Given the description of an element on the screen output the (x, y) to click on. 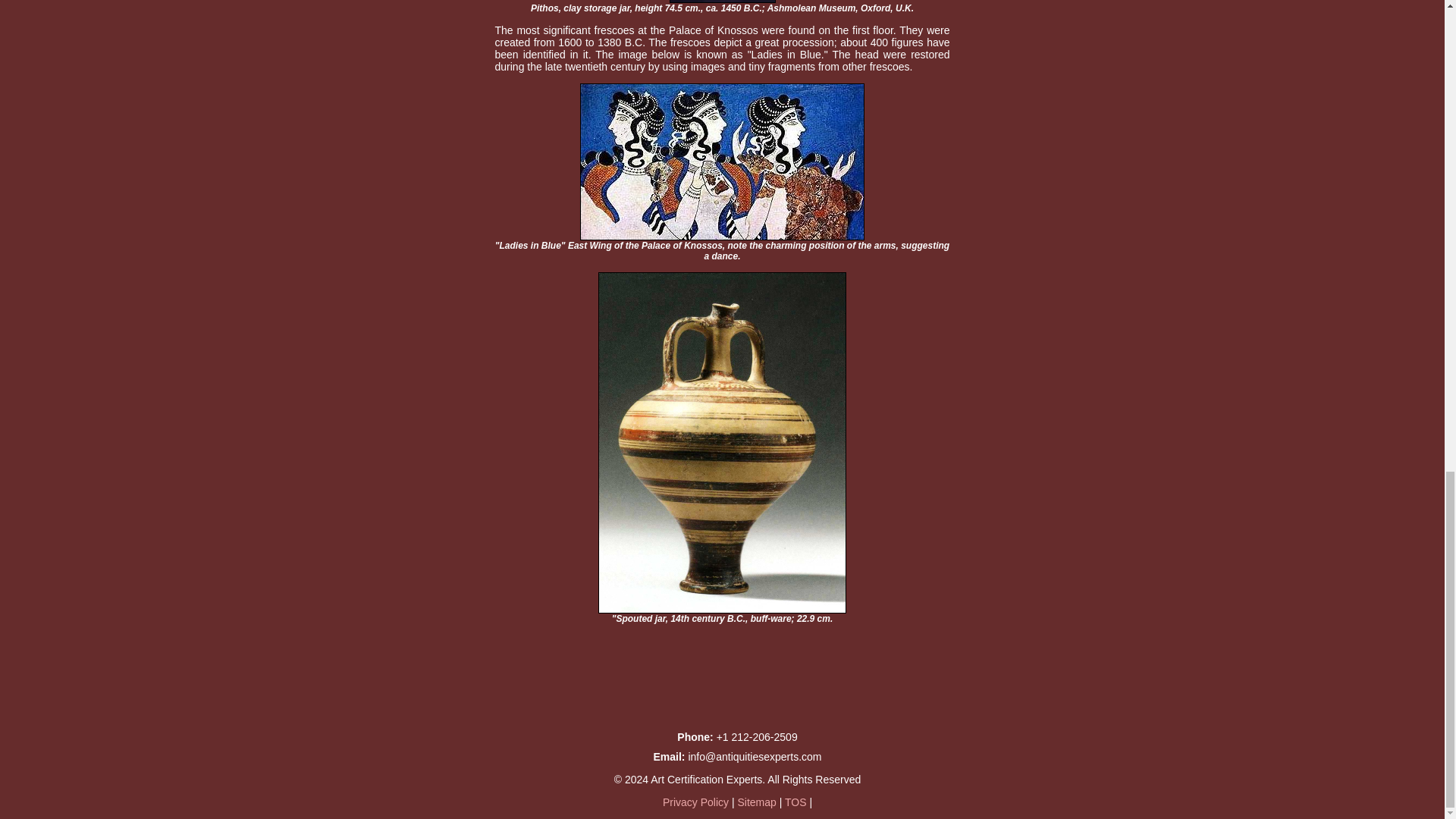
Sitemap (756, 802)
TOS (795, 802)
Privacy Policy (697, 802)
